Given the description of an element on the screen output the (x, y) to click on. 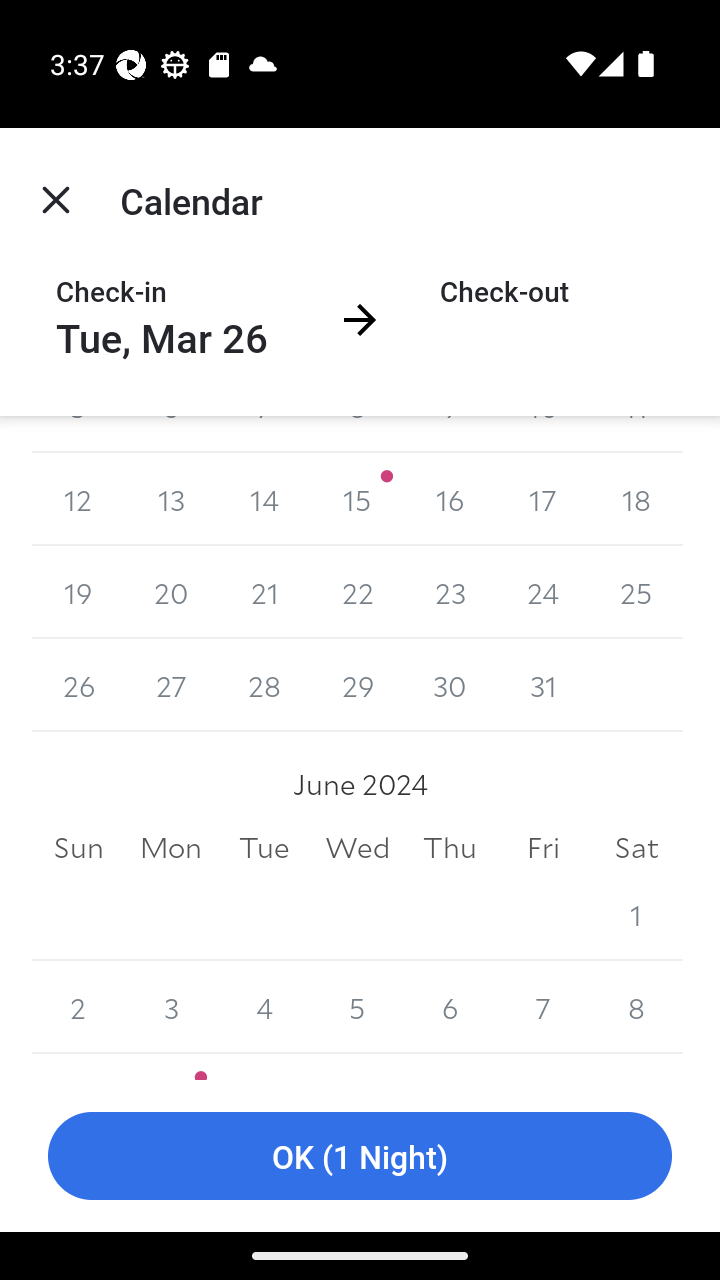
12 12 May 2024 (78, 499)
13 13 May 2024 (171, 499)
14 14 May 2024 (264, 499)
15 15 May 2024 (357, 499)
16 16 May 2024 (449, 499)
17 17 May 2024 (542, 499)
18 18 May 2024 (636, 499)
19 19 May 2024 (78, 592)
20 20 May 2024 (171, 592)
21 21 May 2024 (264, 592)
22 22 May 2024 (357, 592)
23 23 May 2024 (449, 592)
24 24 May 2024 (542, 592)
25 25 May 2024 (636, 592)
26 26 May 2024 (78, 685)
27 27 May 2024 (171, 685)
28 28 May 2024 (264, 685)
29 29 May 2024 (357, 685)
30 30 May 2024 (449, 685)
31 31 May 2024 (542, 685)
Sun (78, 846)
Mon (171, 846)
Tue (264, 846)
Wed (357, 846)
Thu (449, 846)
Fri (542, 846)
Sat (636, 846)
1 1 June 2024 (636, 914)
2 2 June 2024 (78, 1007)
3 3 June 2024 (171, 1007)
4 4 June 2024 (264, 1007)
5 5 June 2024 (357, 1007)
6 6 June 2024 (449, 1007)
7 7 June 2024 (542, 1007)
8 8 June 2024 (636, 1007)
OK (1 Night) (359, 1156)
